Given the description of an element on the screen output the (x, y) to click on. 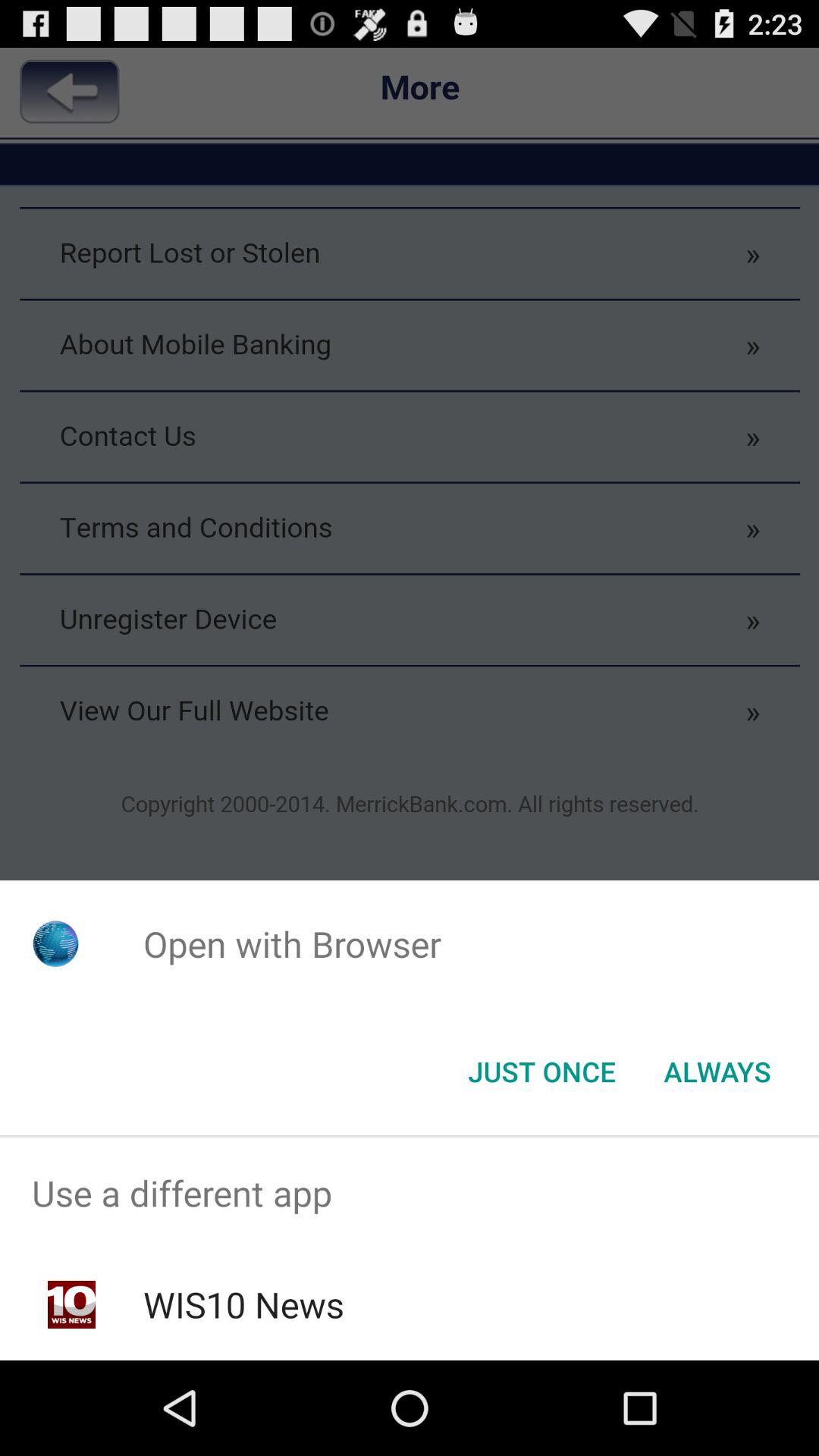
launch the item above the wis10 news app (409, 1192)
